Given the description of an element on the screen output the (x, y) to click on. 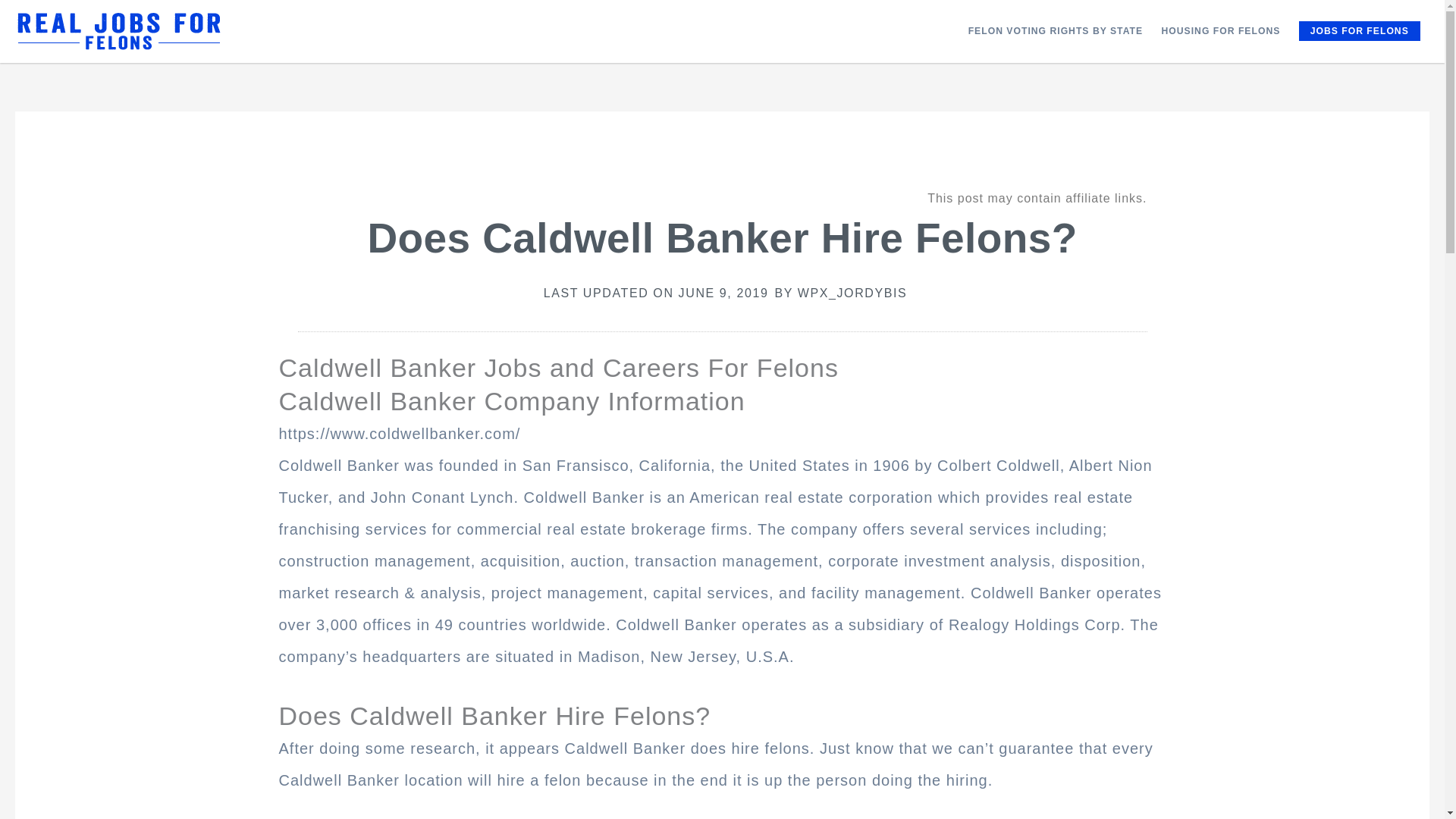
HOUSING FOR FELONS (1219, 30)
JOBS FOR FELONS (1359, 30)
FELON VOTING RIGHTS BY STATE (1054, 30)
